Given the description of an element on the screen output the (x, y) to click on. 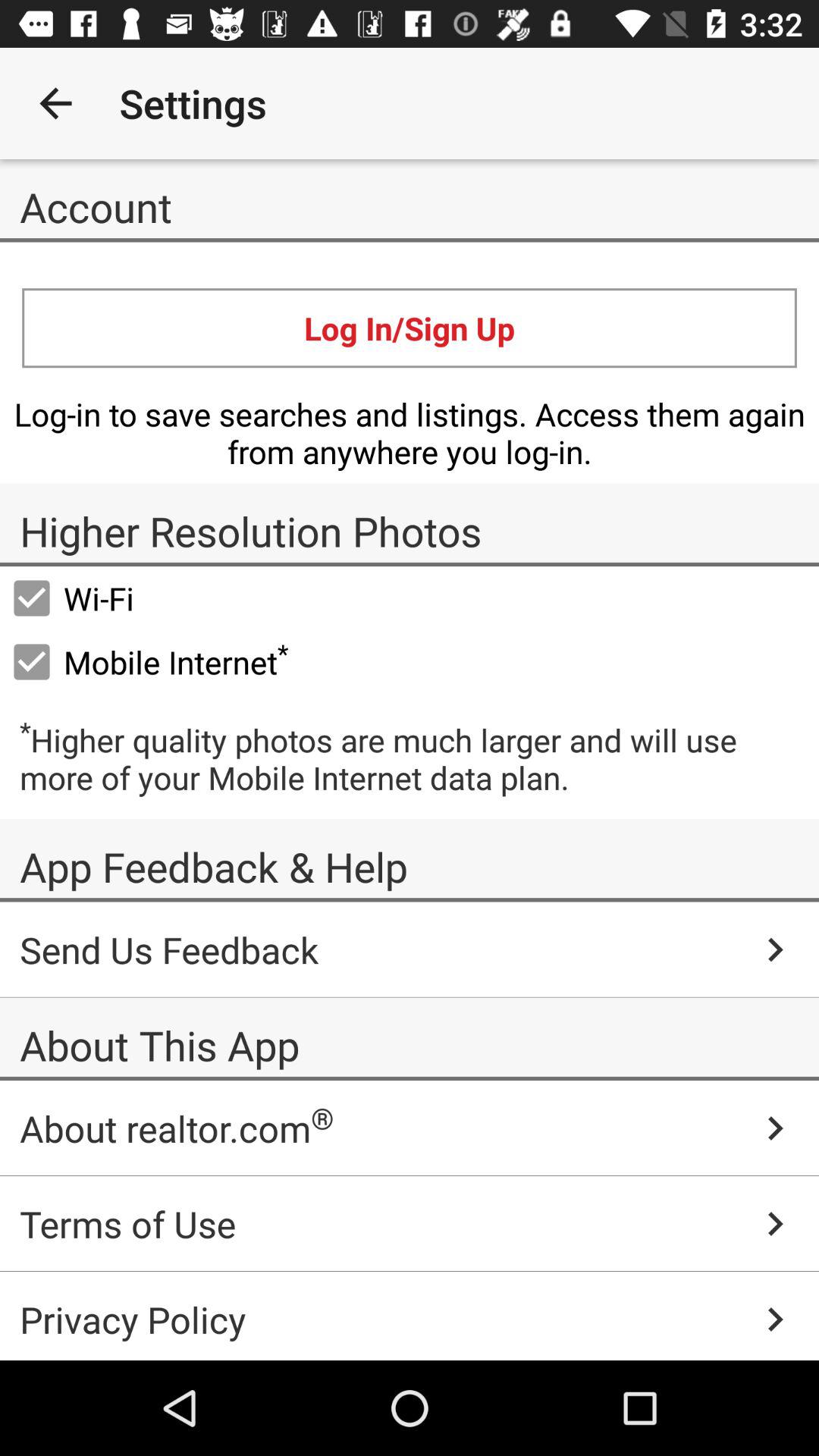
press the item below terms of use item (409, 1315)
